Given the description of an element on the screen output the (x, y) to click on. 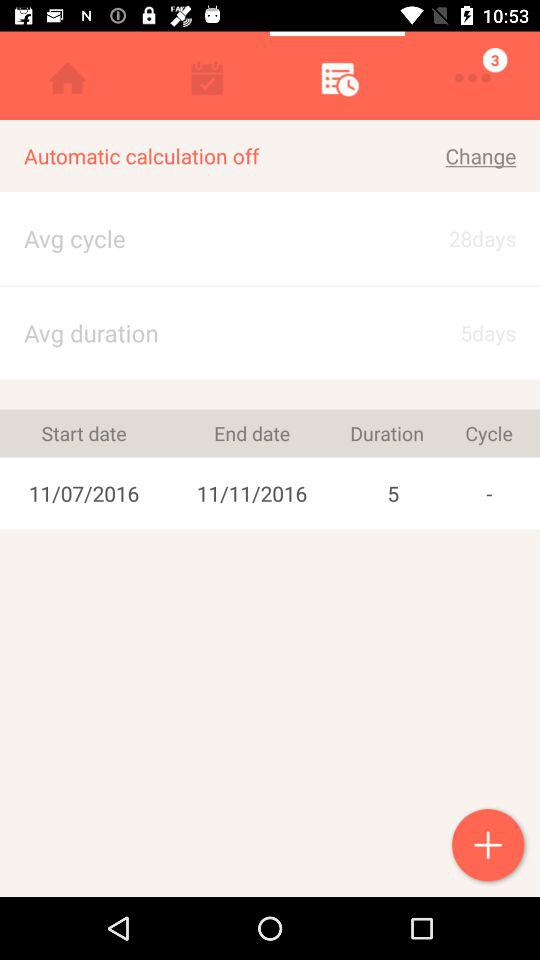
click the item to the left of change (189, 238)
